Given the description of an element on the screen output the (x, y) to click on. 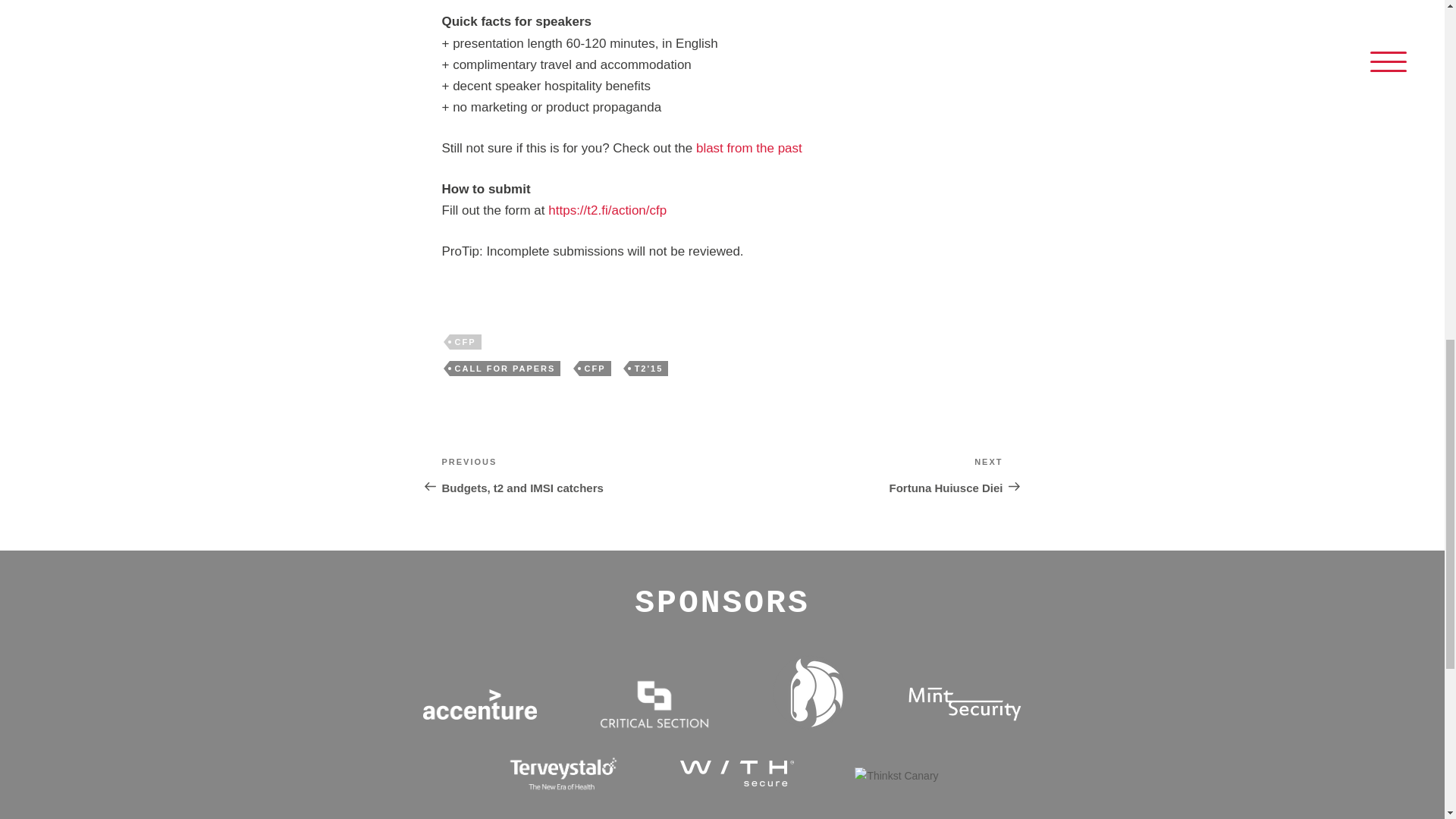
CALL FOR PAPERS (504, 368)
T2'15 (648, 368)
CFP (581, 474)
CFP (862, 474)
blast from the past (595, 368)
